Given the description of an element on the screen output the (x, y) to click on. 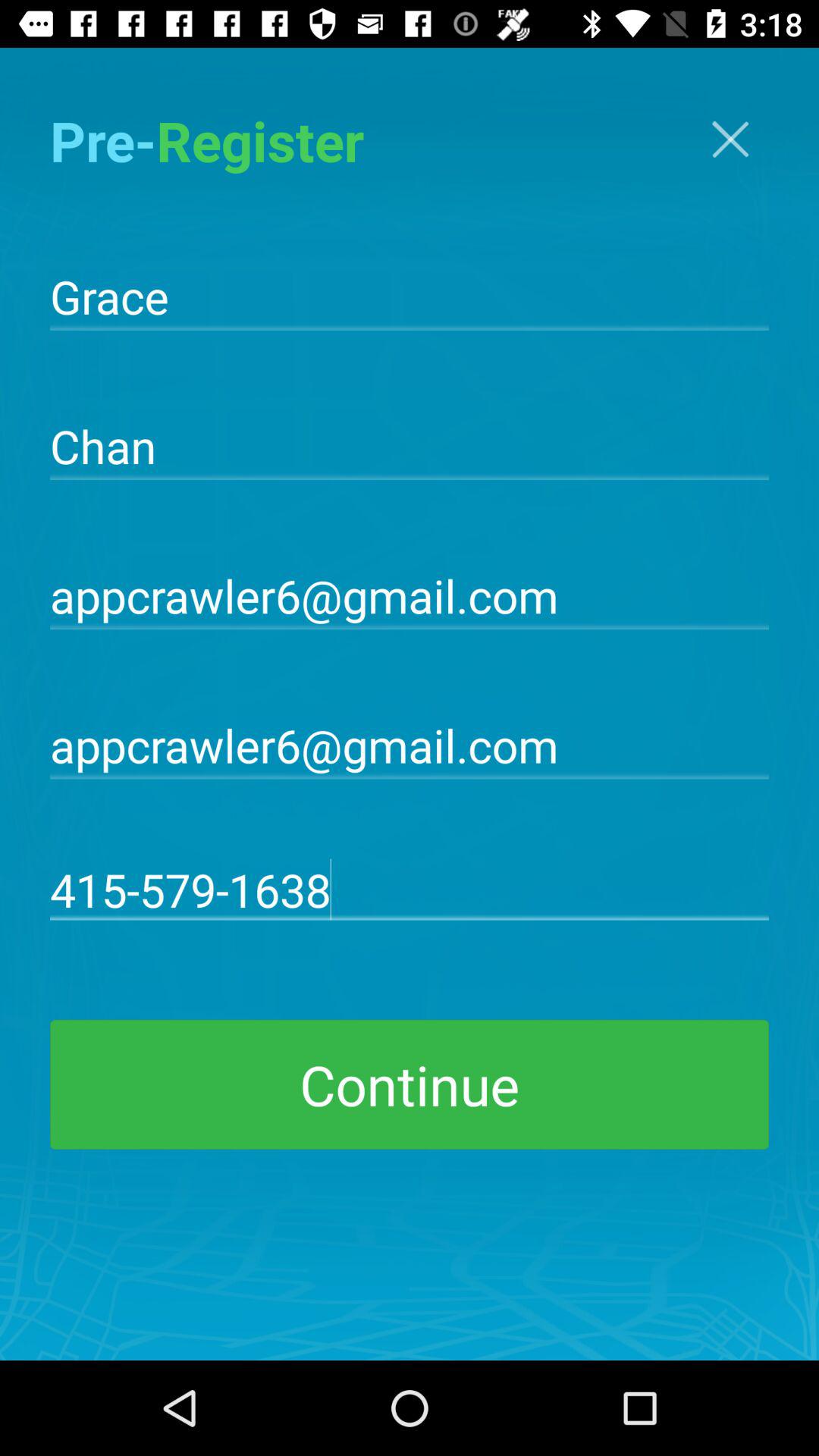
tap the chan (409, 445)
